Given the description of an element on the screen output the (x, y) to click on. 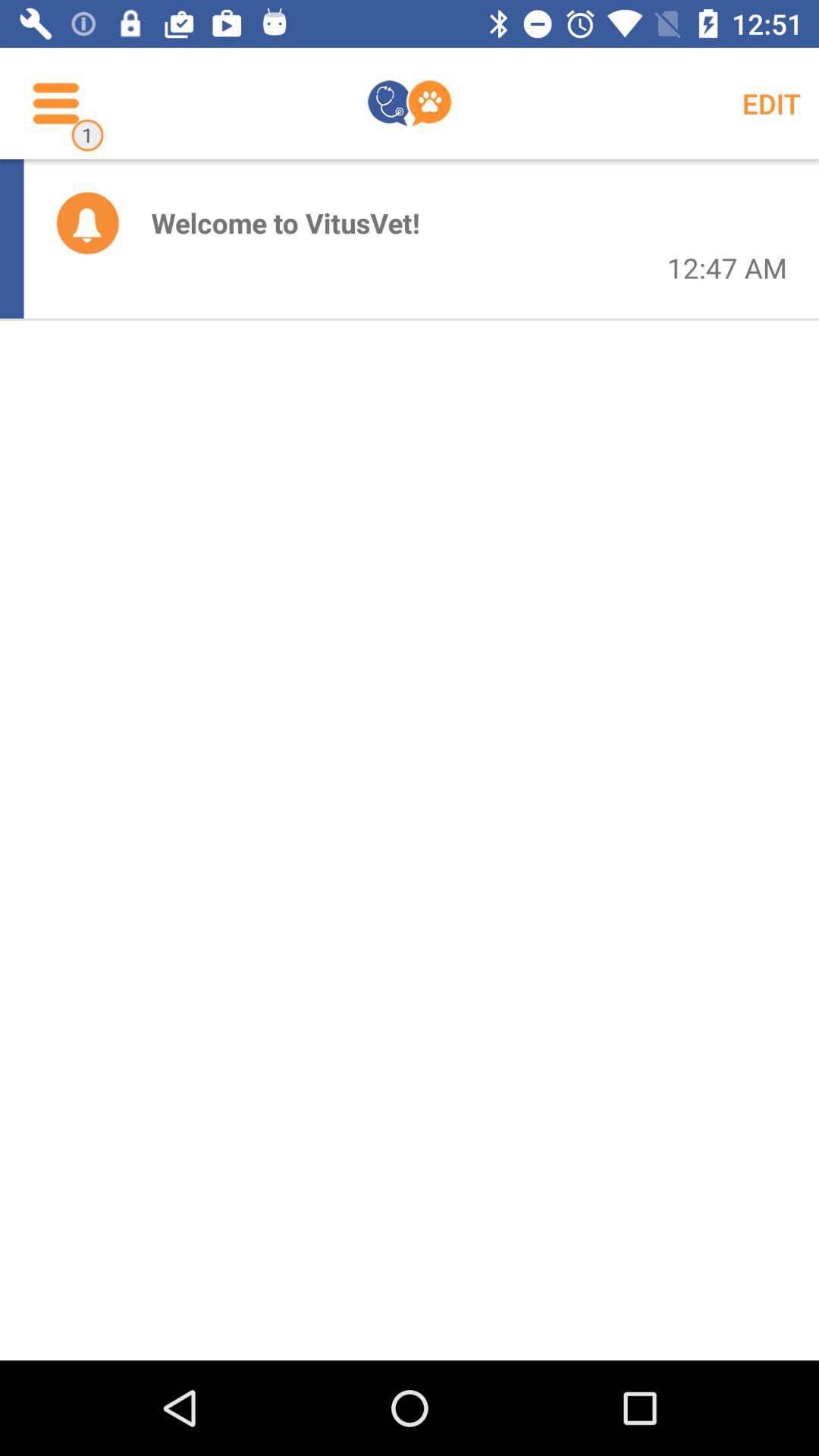
choose welcome to vitusvet! item (285, 222)
